Given the description of an element on the screen output the (x, y) to click on. 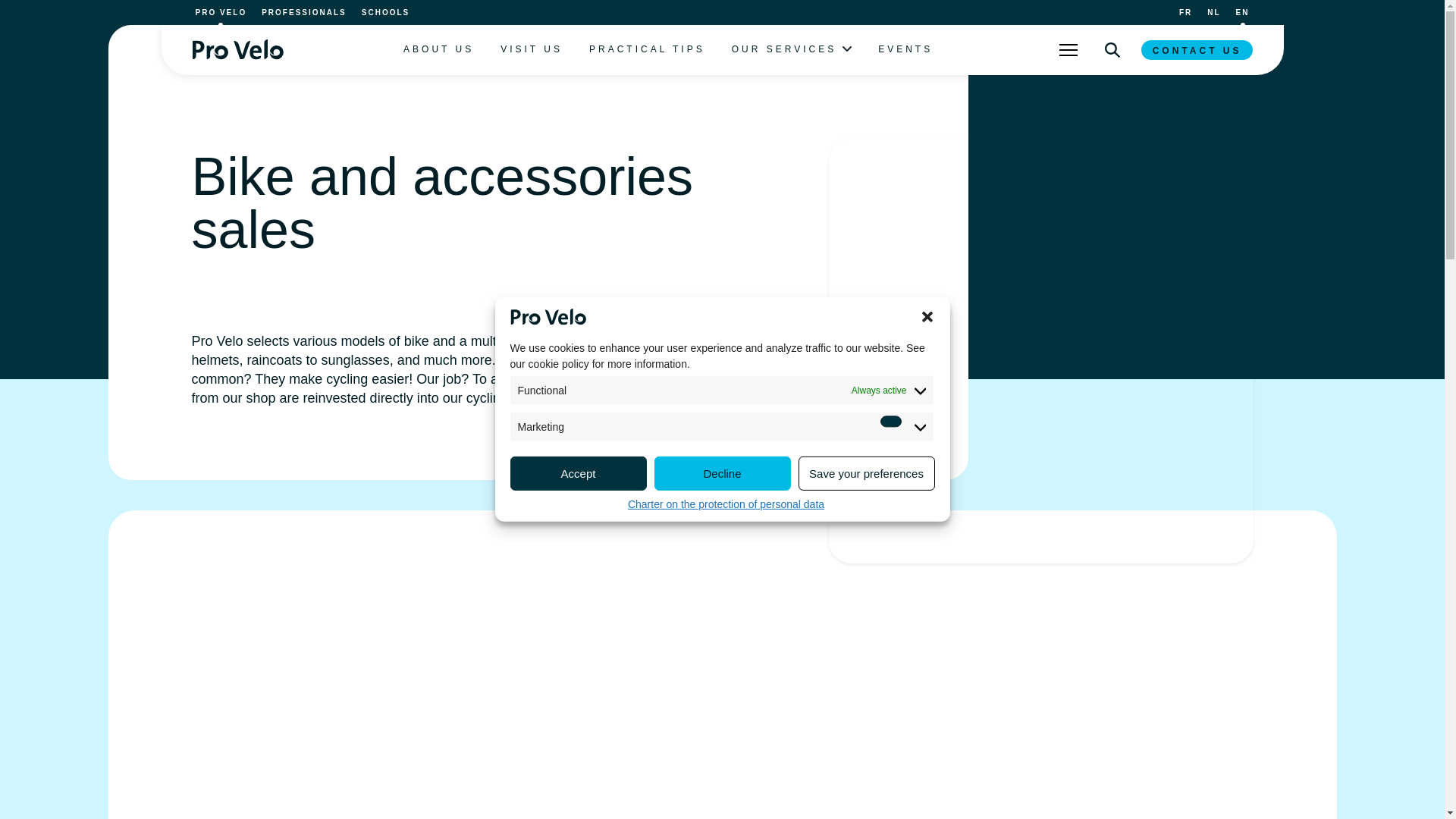
CONTACT US (1197, 49)
Decline (721, 710)
ABOUT US (438, 49)
Search (1112, 49)
PRO VELO (221, 12)
Charter on the protection of personal data (725, 598)
Welcome page (236, 49)
Save your preferences (865, 639)
OUR SERVICES (783, 49)
PRACTICAL TIPS (646, 49)
PROFESSIONALS (304, 12)
VISIT US (531, 49)
EVENTS (905, 49)
Search (1112, 49)
SCHOOLS (385, 12)
